Given the description of an element on the screen output the (x, y) to click on. 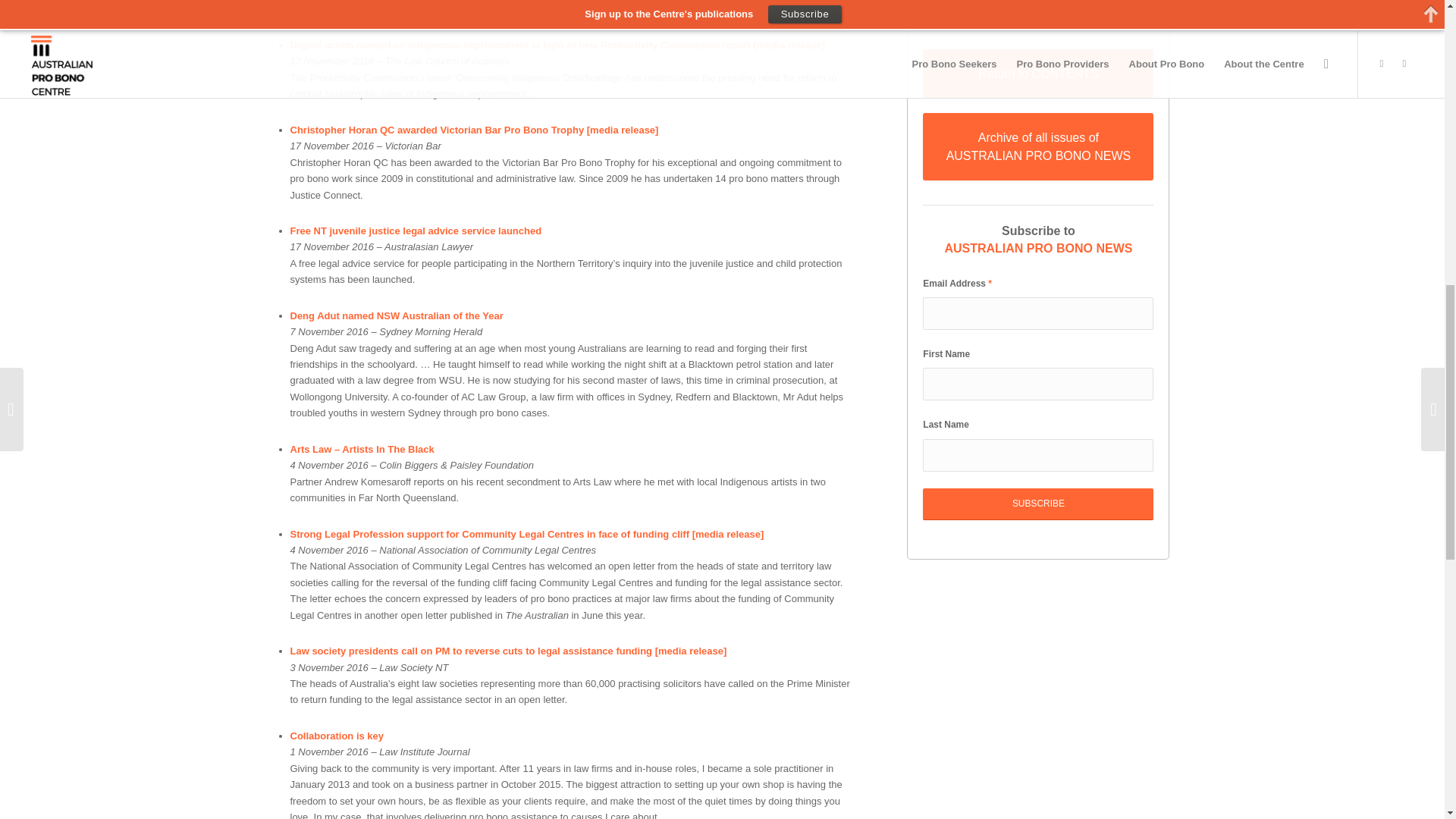
Deng Adut named NSW Australian of the Year (395, 315)
Free NT juvenile justice legal advice service launched (415, 230)
SUBSCRIBE (1038, 504)
